Given the description of an element on the screen output the (x, y) to click on. 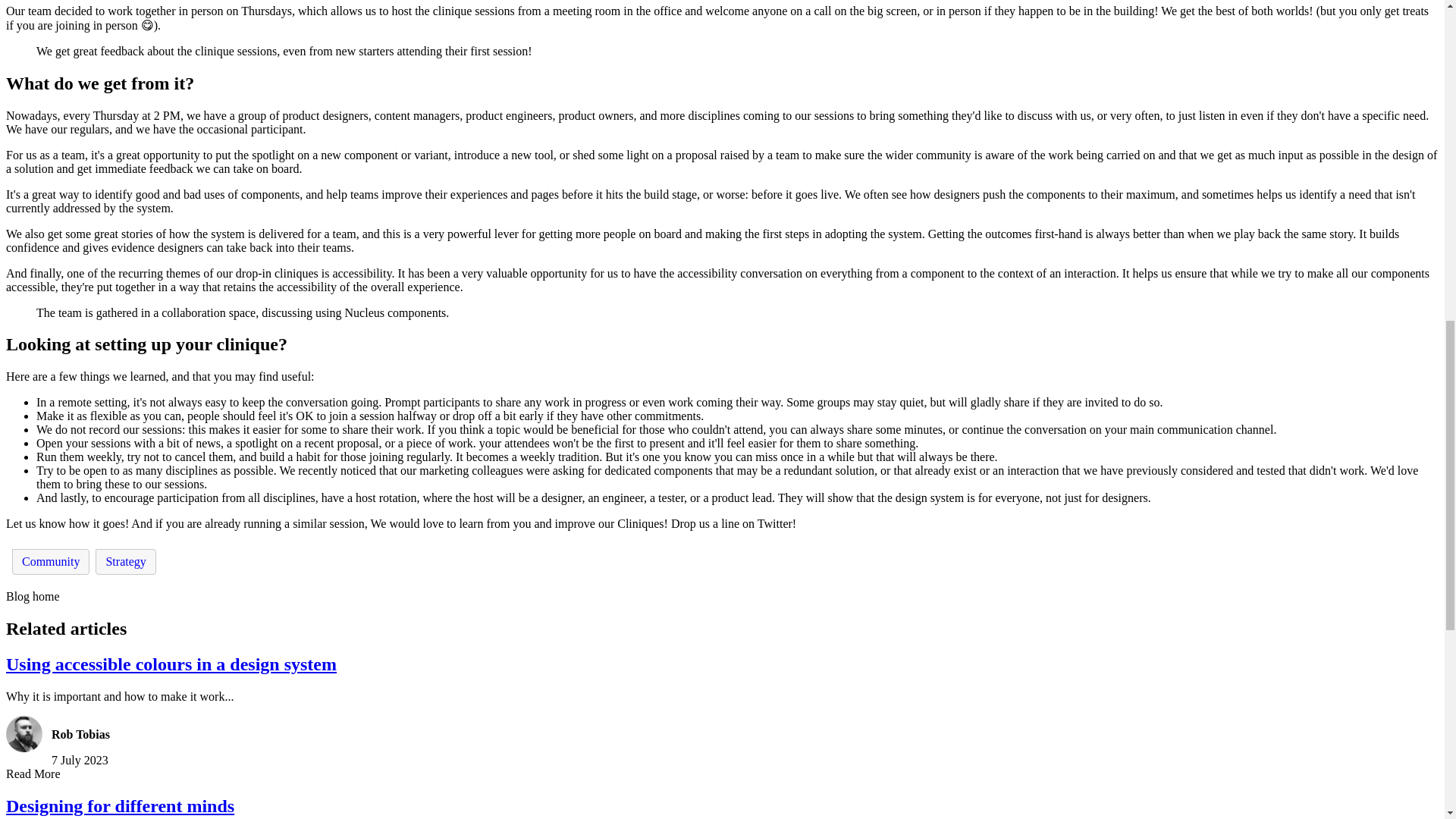
Community (49, 561)
Strategy (125, 561)
Designing for different minds (119, 805)
Using accessible colours in a design system (170, 664)
